Given the description of an element on the screen output the (x, y) to click on. 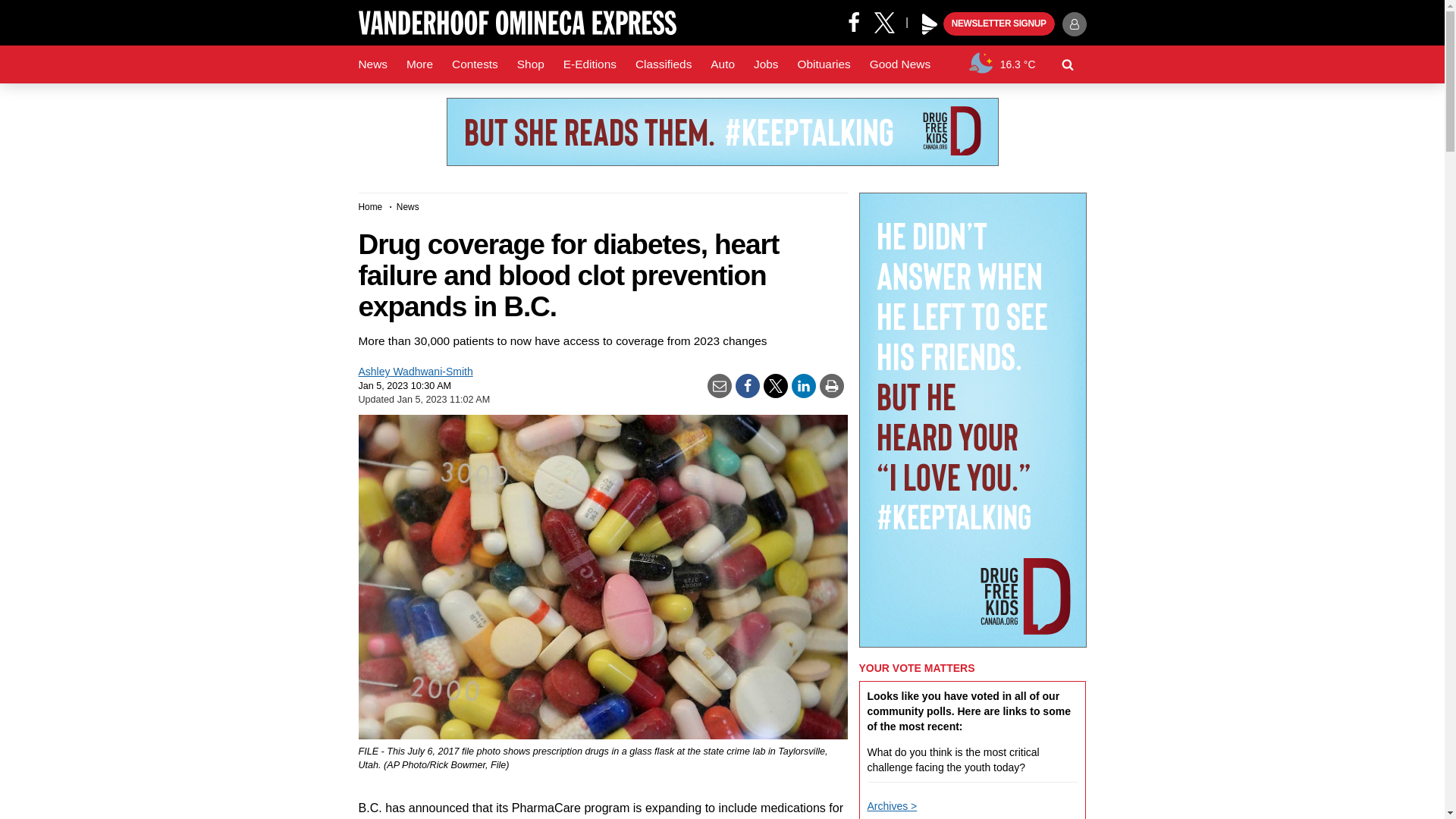
NEWSLETTER SIGNUP (998, 24)
X (889, 21)
Black Press Media (929, 24)
Play (929, 24)
News (372, 64)
Facebook (853, 21)
3rd party ad content (721, 131)
